Given the description of an element on the screen output the (x, y) to click on. 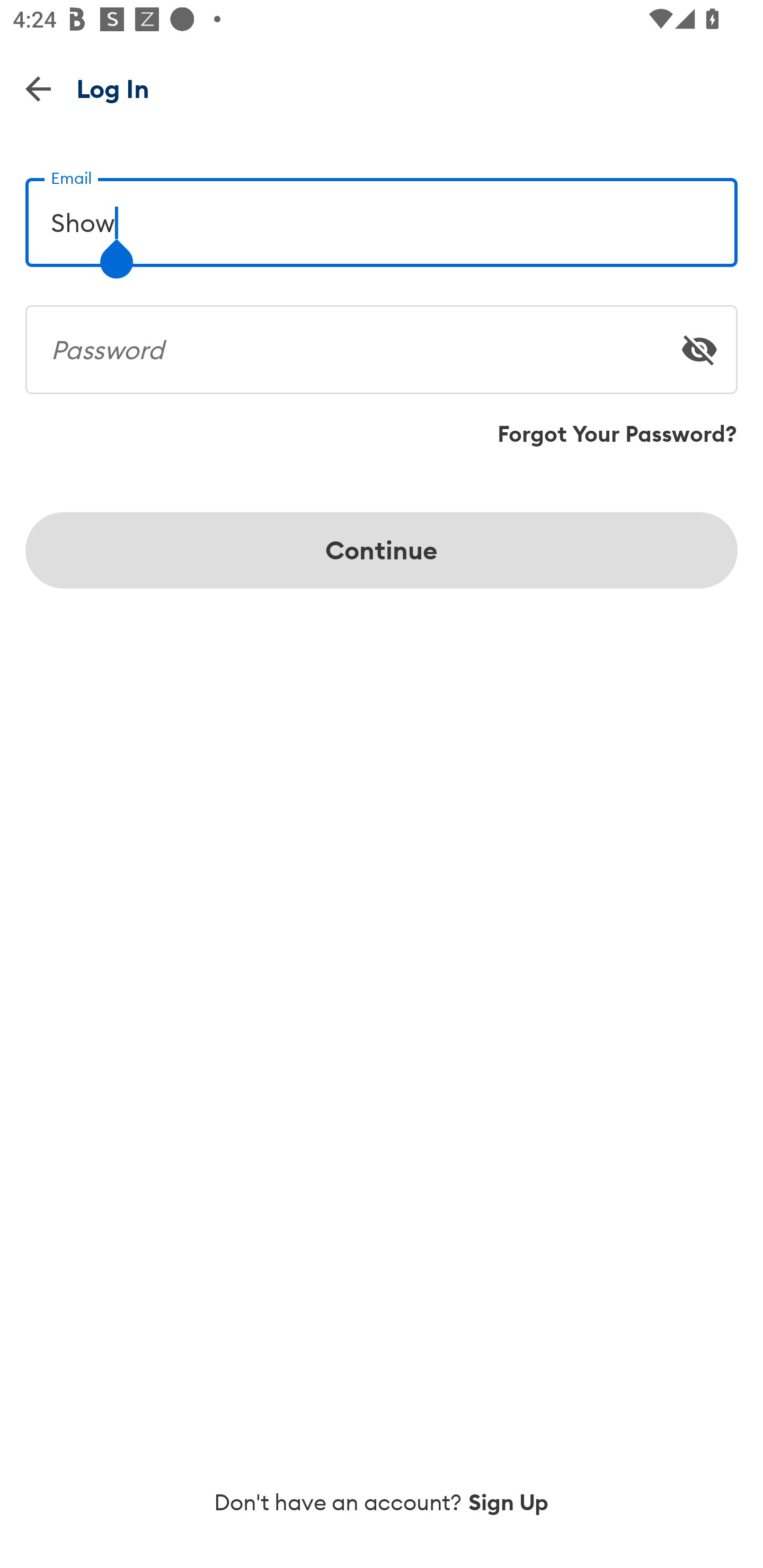
Back (38, 88)
Show Email (381, 215)
Password (381, 342)
Forgot Your Password? (617, 433)
Continue (381, 550)
Sign Up (508, 1502)
